Given the description of an element on the screen output the (x, y) to click on. 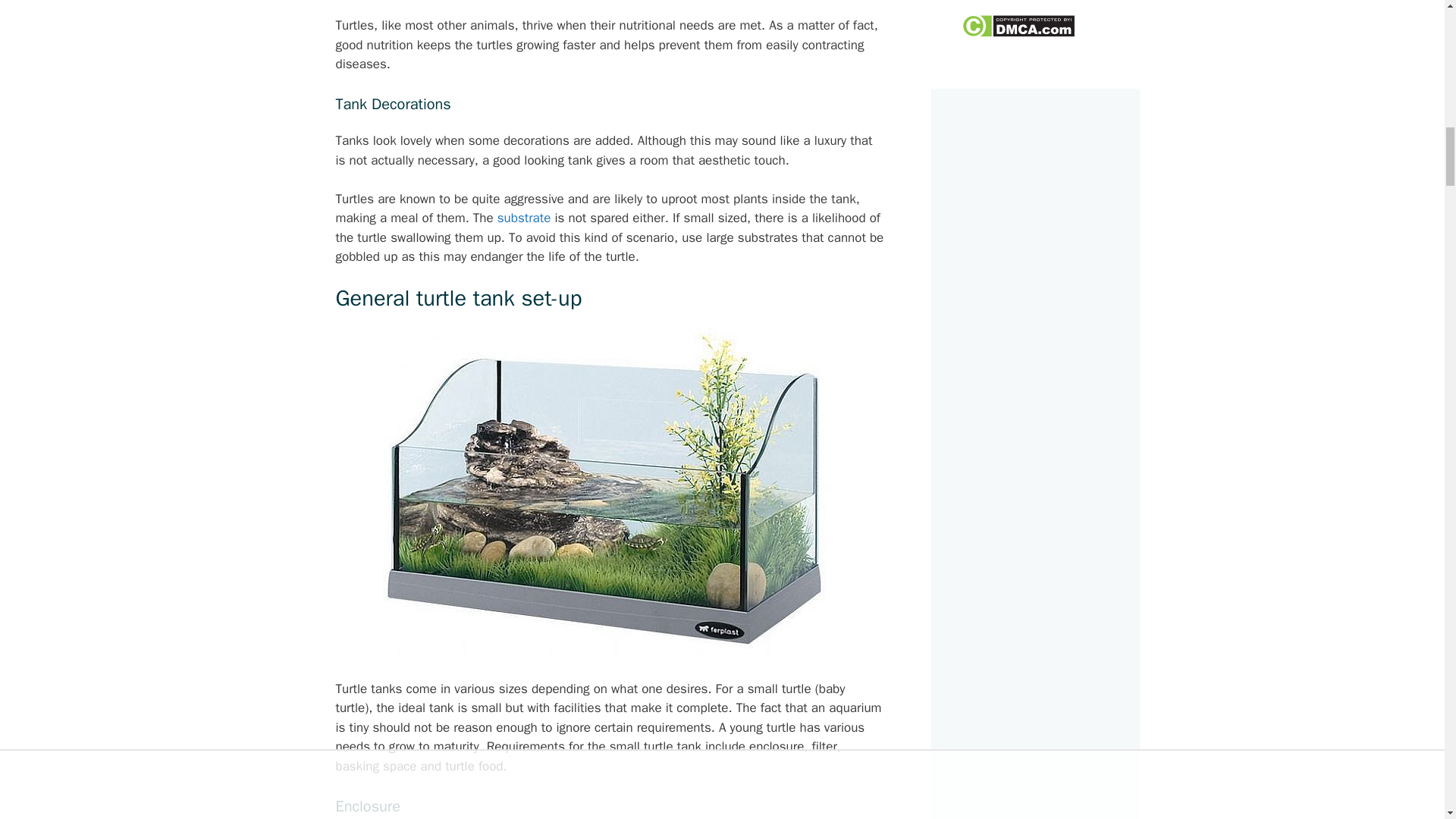
DMCA.com Protection Status (1017, 33)
substrate (524, 217)
